Given the description of an element on the screen output the (x, y) to click on. 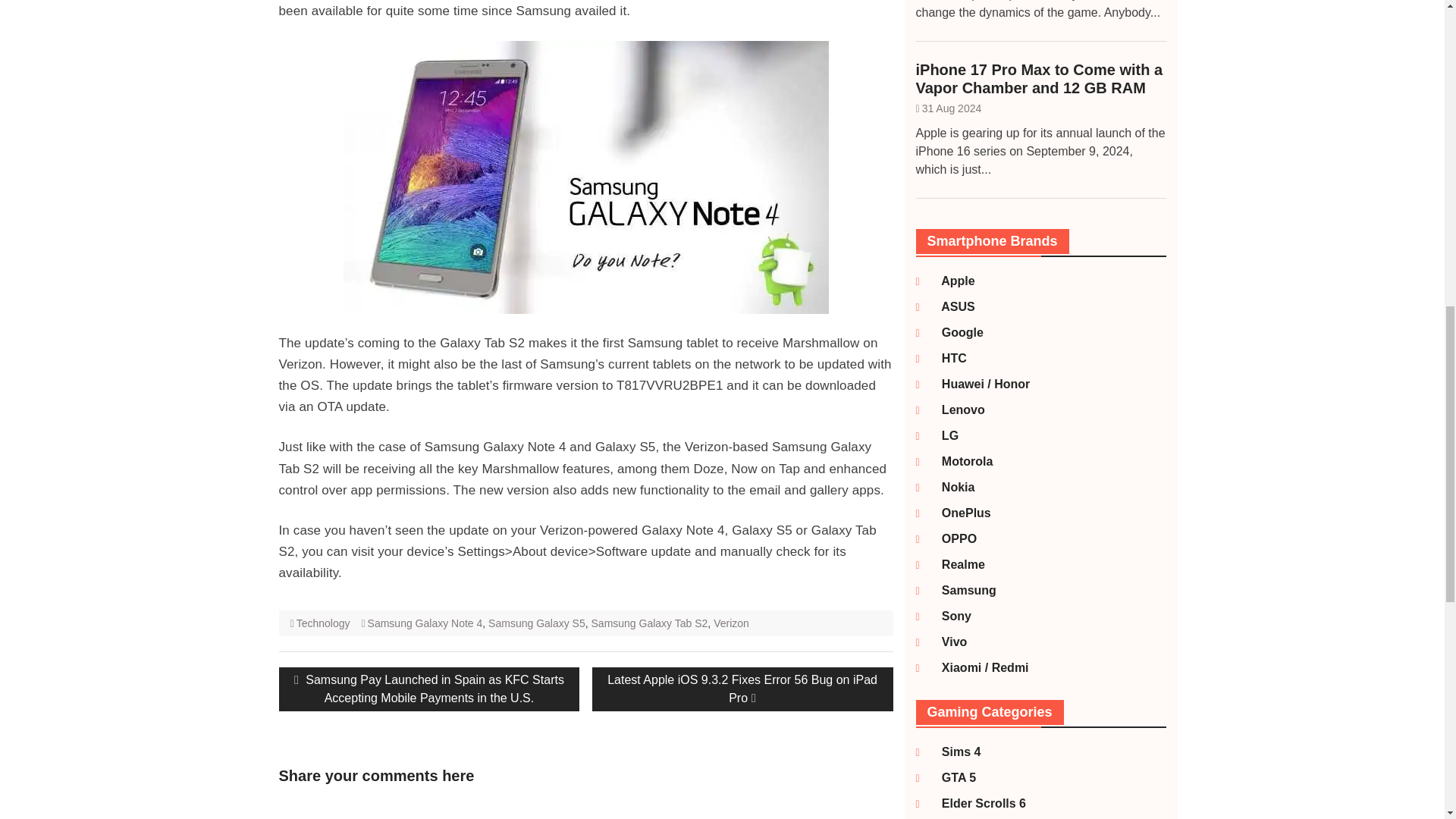
Samsung Galaxy S5 (536, 623)
iPhone 17 Pro Max to Come with a Vapor Chamber and 12 GB RAM (1040, 78)
Verizon (731, 623)
Samsung Galaxy Tab S2 (649, 623)
Samsung Galaxy Note 4 (425, 623)
Comment Form (380, 808)
Technology (323, 623)
     Apple (949, 280)
